Given the description of an element on the screen output the (x, y) to click on. 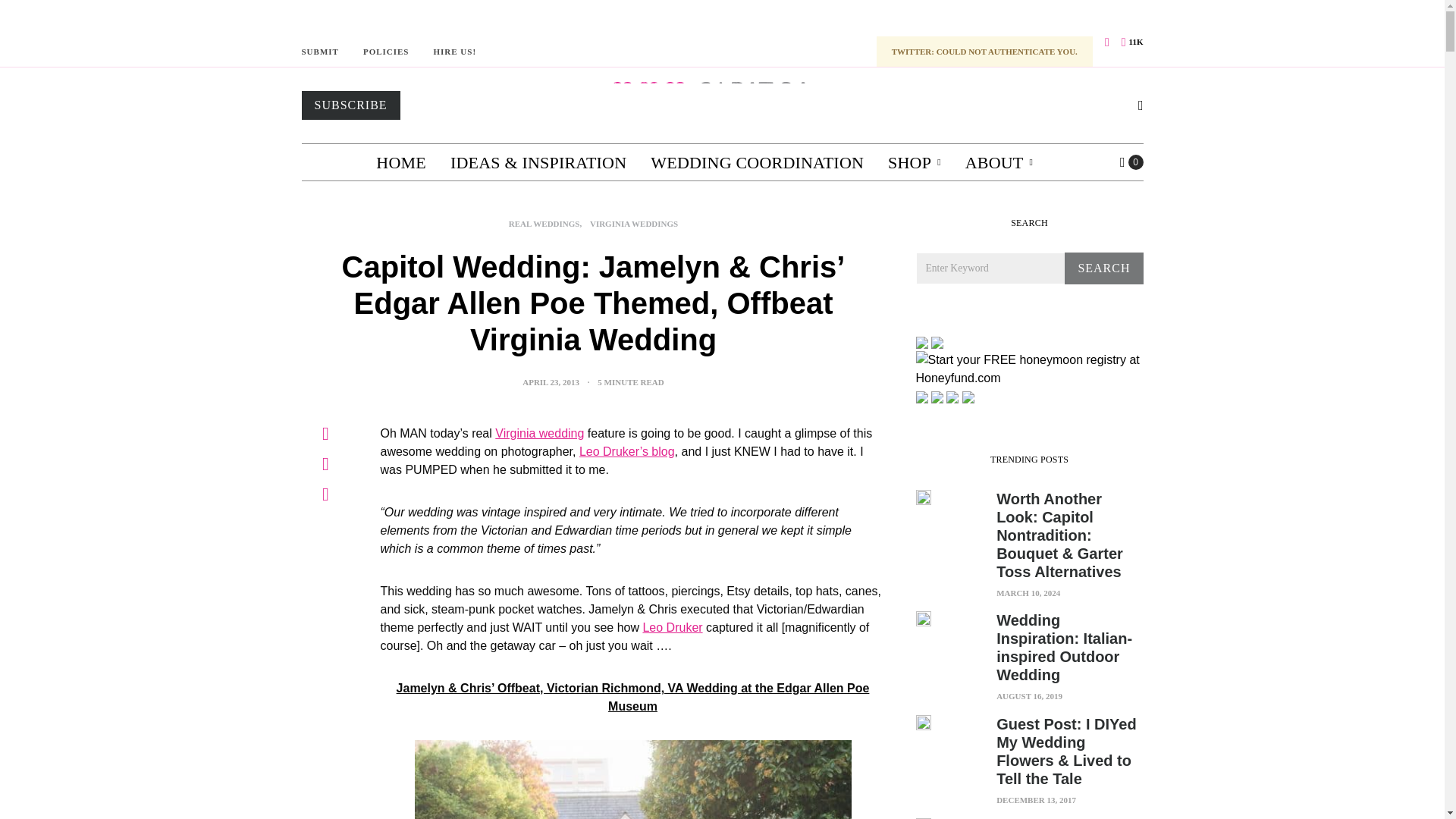
HIRE US! (454, 51)
View your shopping cart (1130, 161)
WEDDING COORDINATION (756, 162)
SUBSCRIBE (350, 104)
SHOP (914, 162)
HOME (400, 162)
SUBMIT (320, 51)
POLICIES (385, 51)
11K (1131, 42)
